Given the description of an element on the screen output the (x, y) to click on. 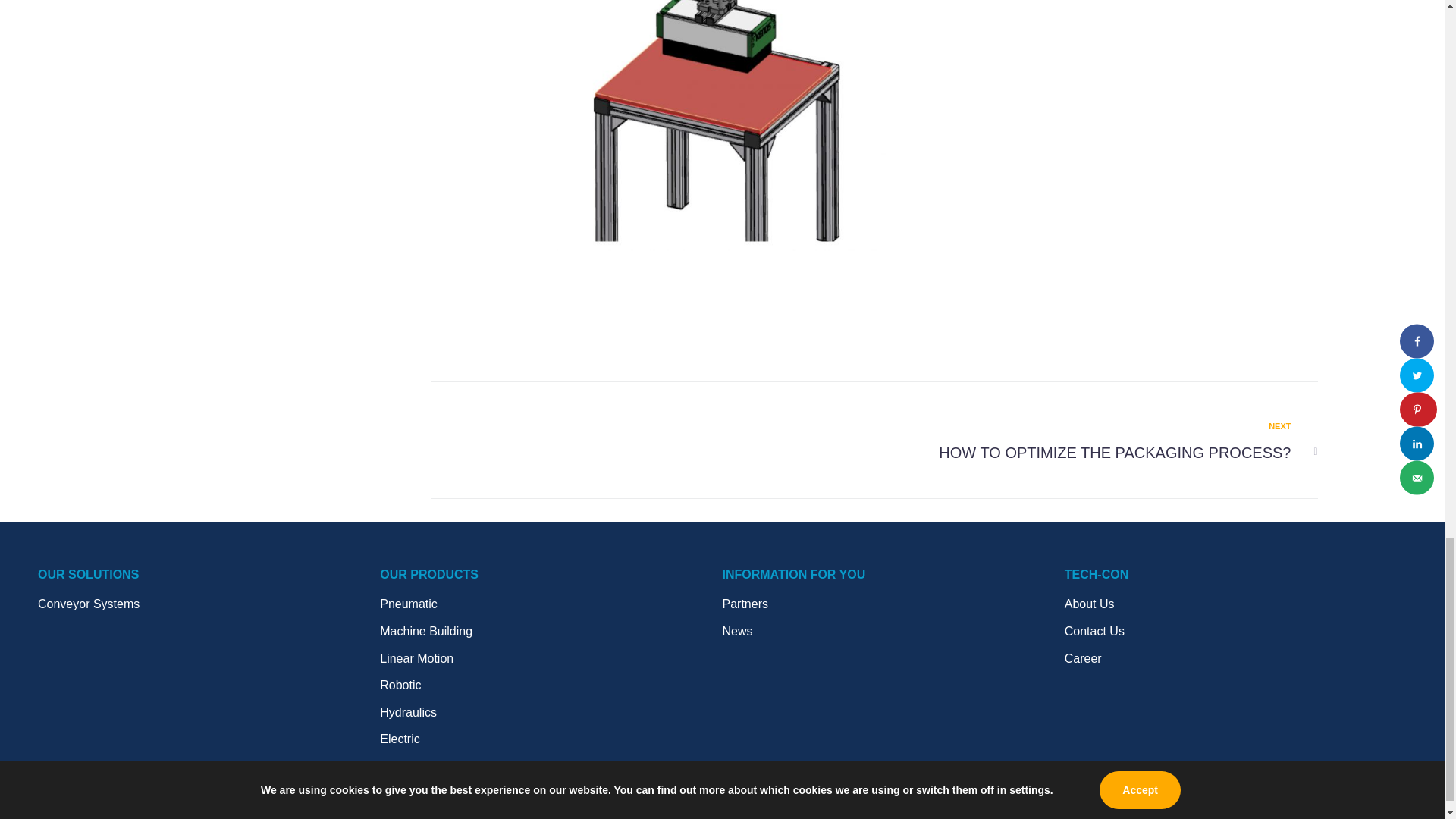
Machine Building (551, 631)
Partners (893, 604)
Linear Motion (551, 659)
Hydraulics (551, 712)
Conveyor Systems (208, 604)
Electric (551, 739)
Robotic (551, 685)
Pneumatic (551, 604)
OUR SOLUTIONS (1088, 442)
